Given the description of an element on the screen output the (x, y) to click on. 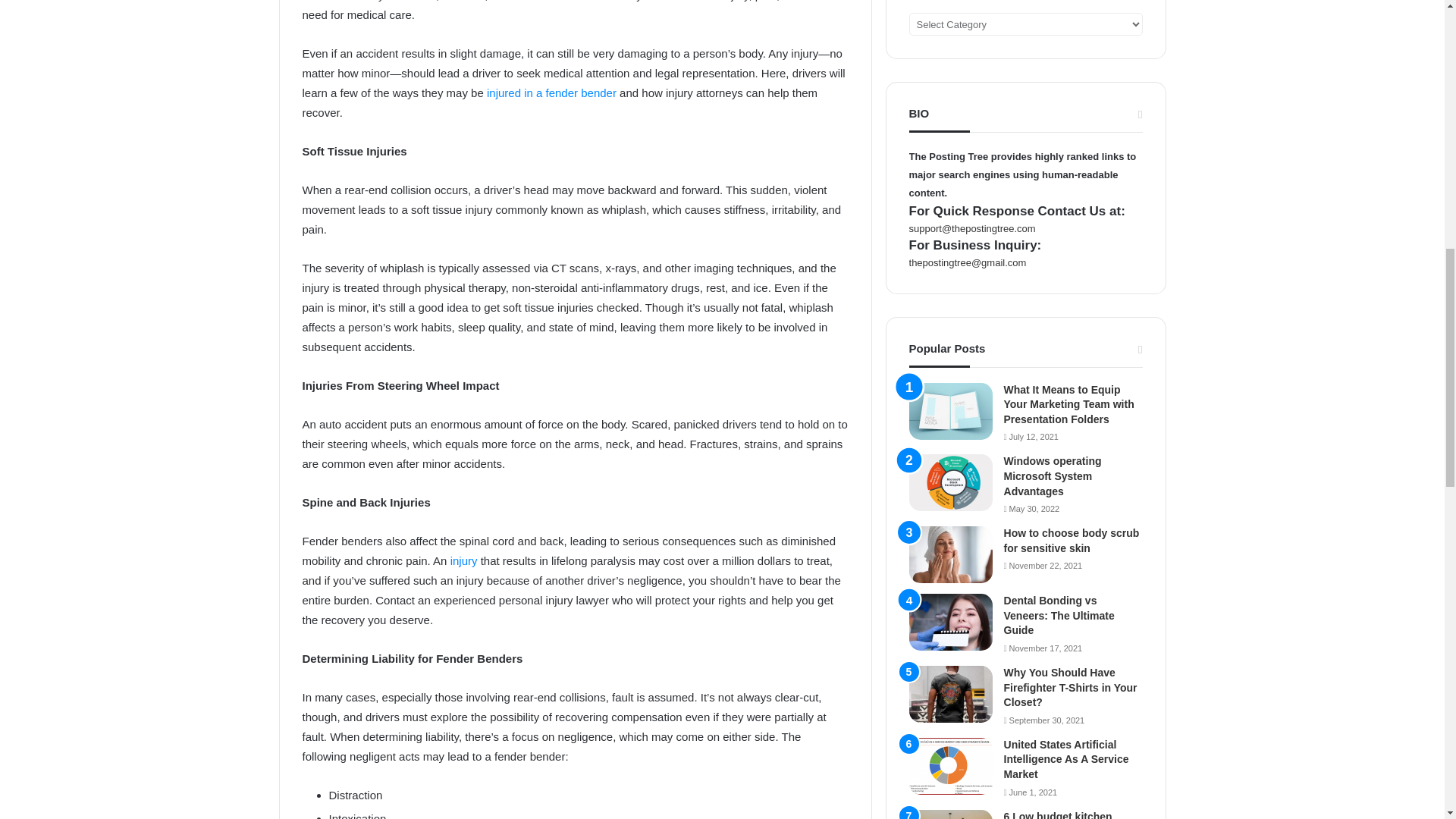
injury (463, 560)
injured in a fender bender (550, 92)
